Given the description of an element on the screen output the (x, y) to click on. 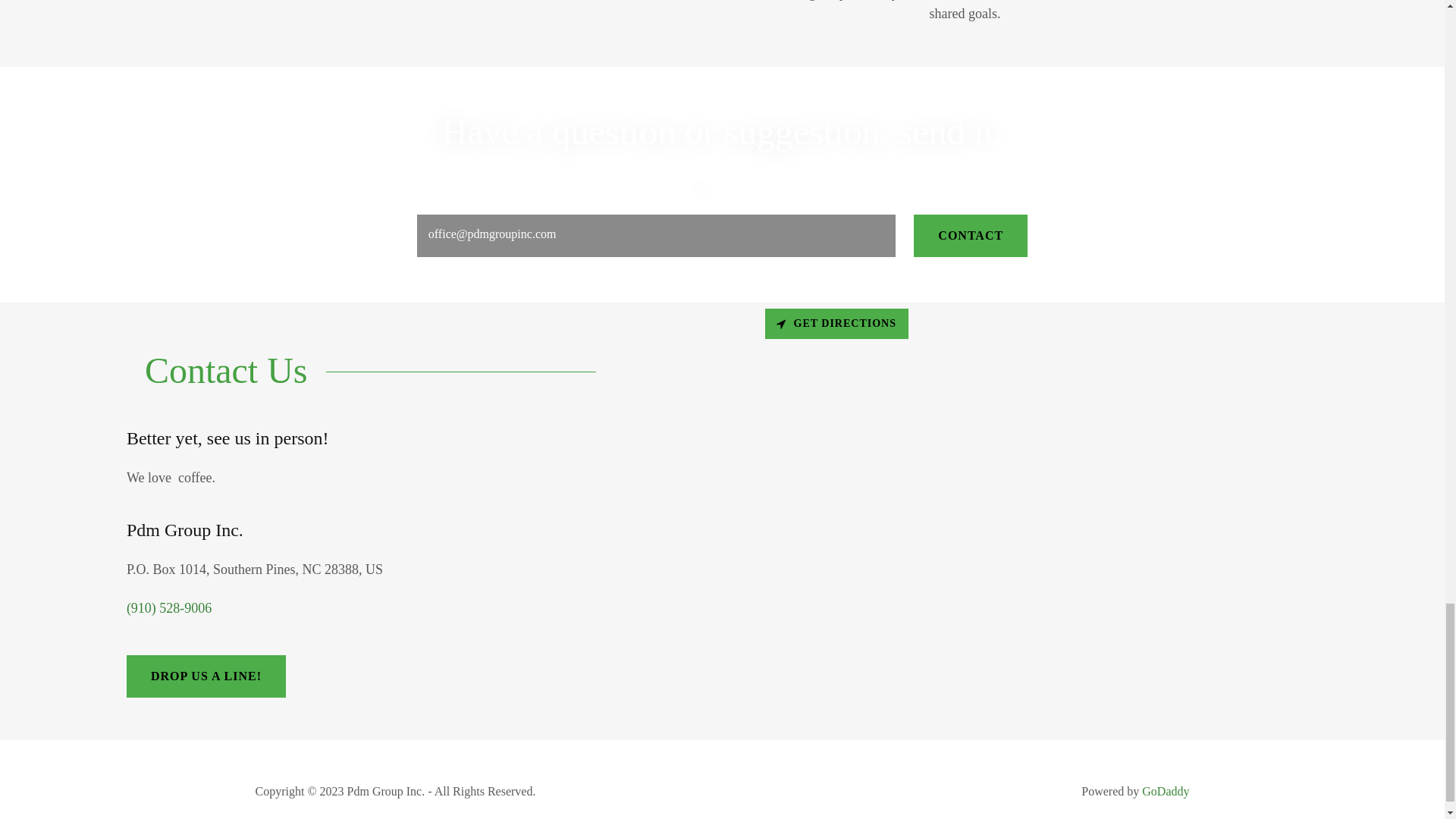
DROP US A LINE! (205, 676)
GET DIRECTIONS (836, 323)
GoDaddy (1165, 790)
CONTACT (970, 235)
